Given the description of an element on the screen output the (x, y) to click on. 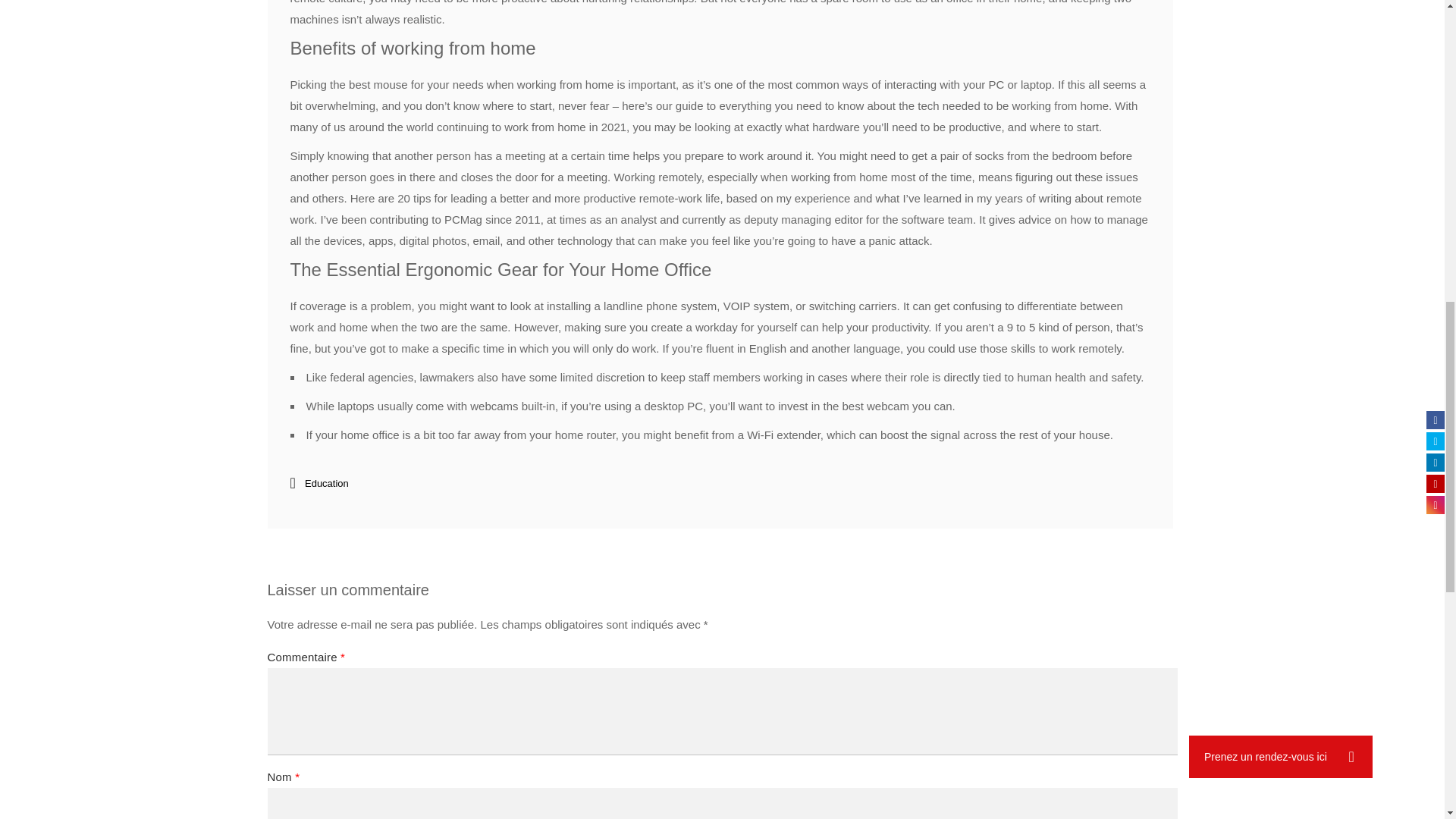
Education (326, 482)
